Given the description of an element on the screen output the (x, y) to click on. 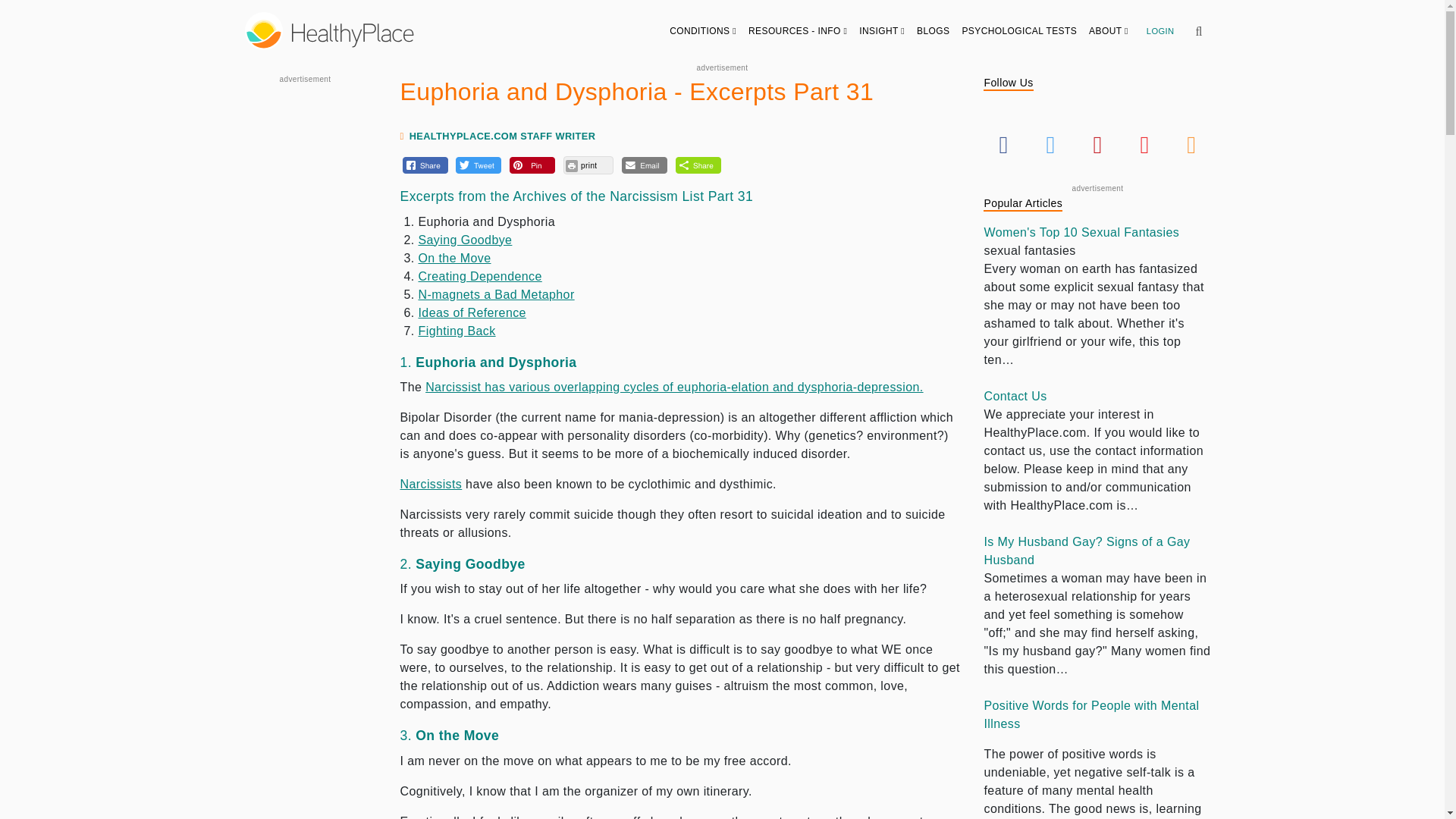
RESOURCES - INFO (797, 31)
What is Narcissism? (431, 483)
INSIGHT (882, 31)
CONDITIONS (702, 31)
Narcissism, Depression and Dysphoria (674, 386)
